Given the description of an element on the screen output the (x, y) to click on. 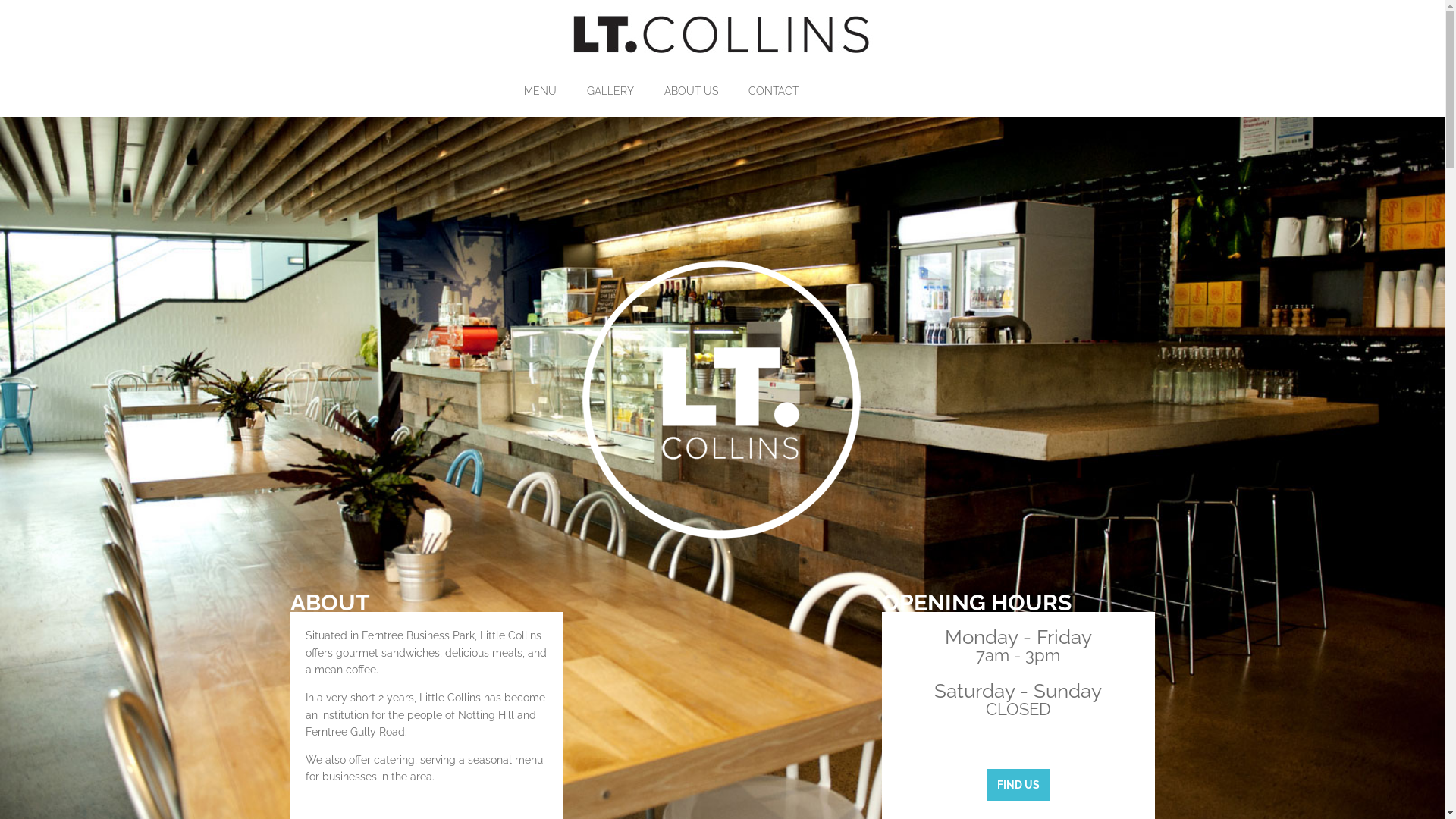
CONTACT Element type: text (786, 91)
ABOUT US Element type: text (704, 91)
MENU Element type: text (553, 91)
FIND US Element type: text (1017, 784)
GALLERY Element type: text (623, 91)
